Given the description of an element on the screen output the (x, y) to click on. 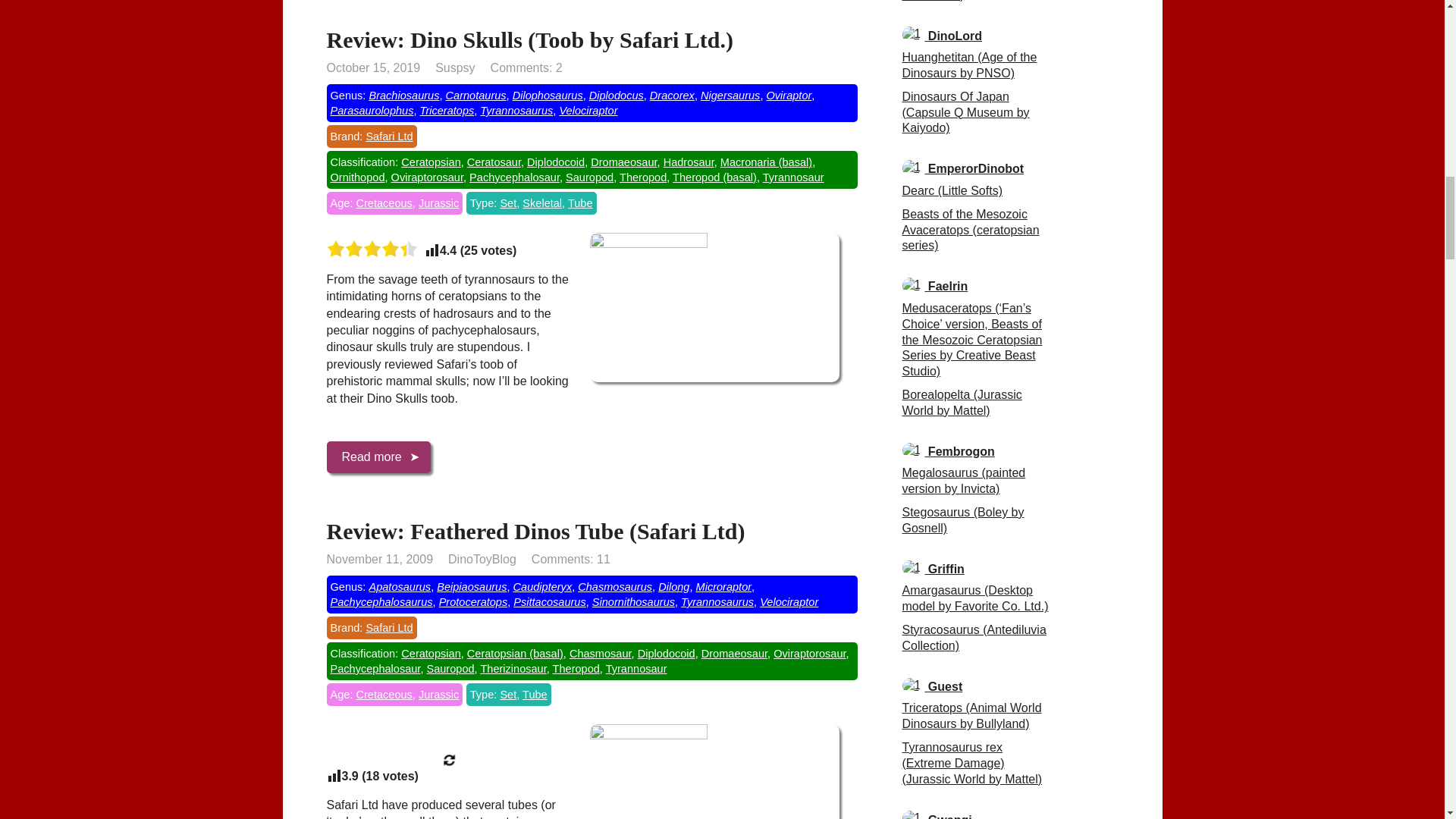
Posts by Suspsy (454, 67)
